Given the description of an element on the screen output the (x, y) to click on. 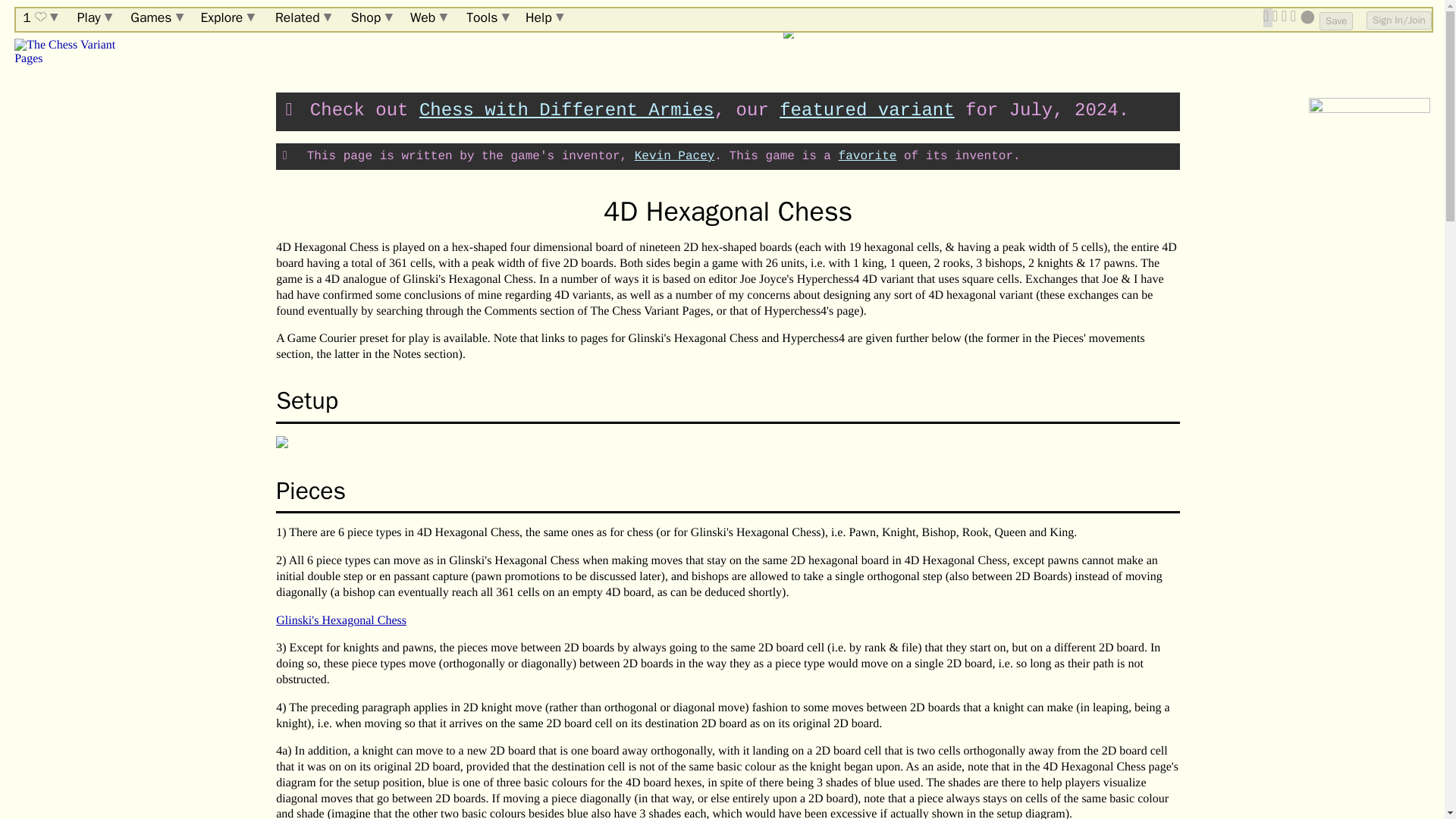
Save the current color scheme to a cookie. (1335, 21)
Click to go to the Homepage (79, 51)
Save (1335, 21)
